Given the description of an element on the screen output the (x, y) to click on. 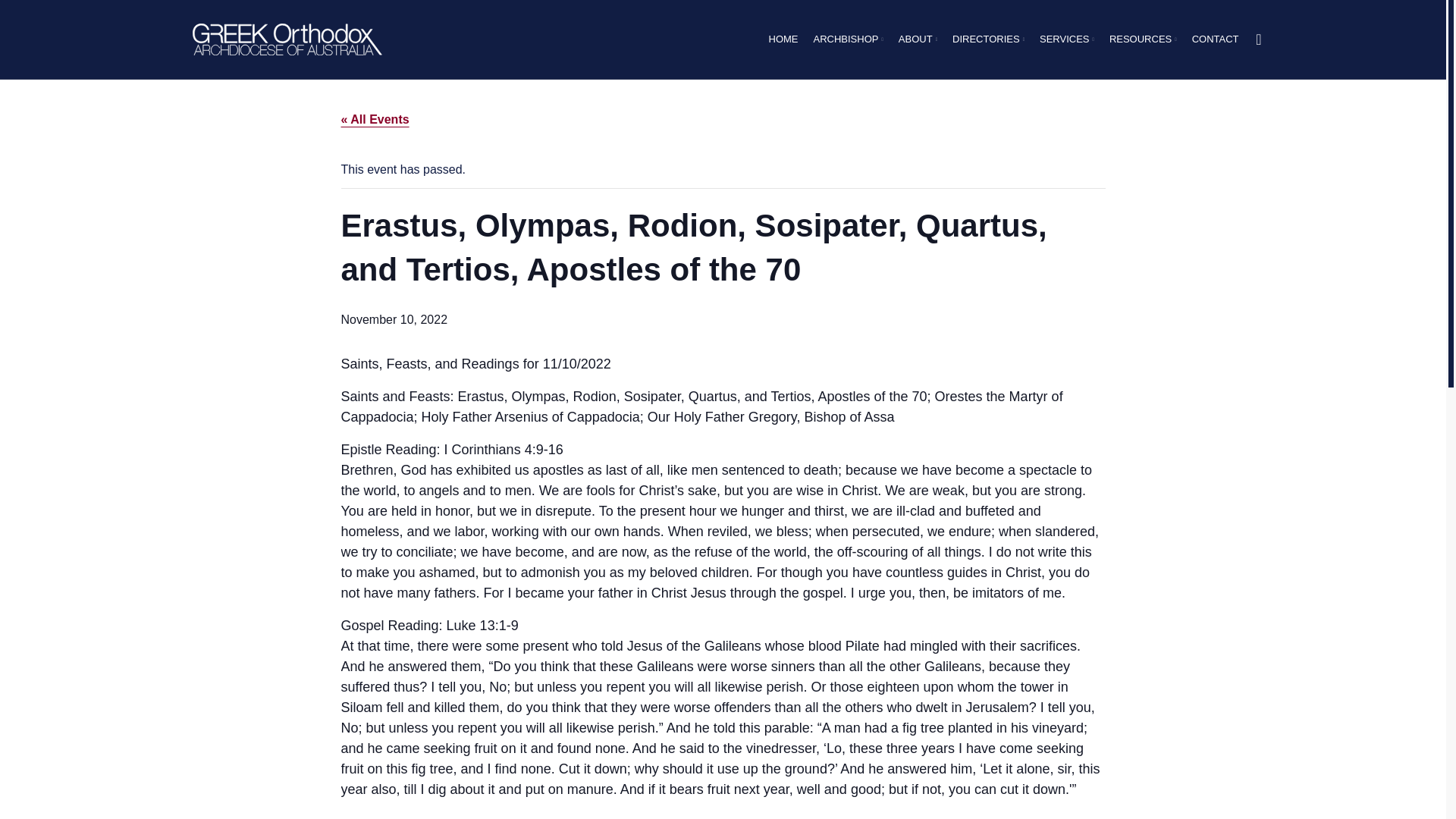
RESOURCES (1142, 39)
DIRECTORIES (988, 39)
HOME (782, 39)
ABOUT (917, 39)
ARCHBISHOP (847, 39)
CONTACT (1215, 39)
SERVICES (1066, 39)
